Given the description of an element on the screen output the (x, y) to click on. 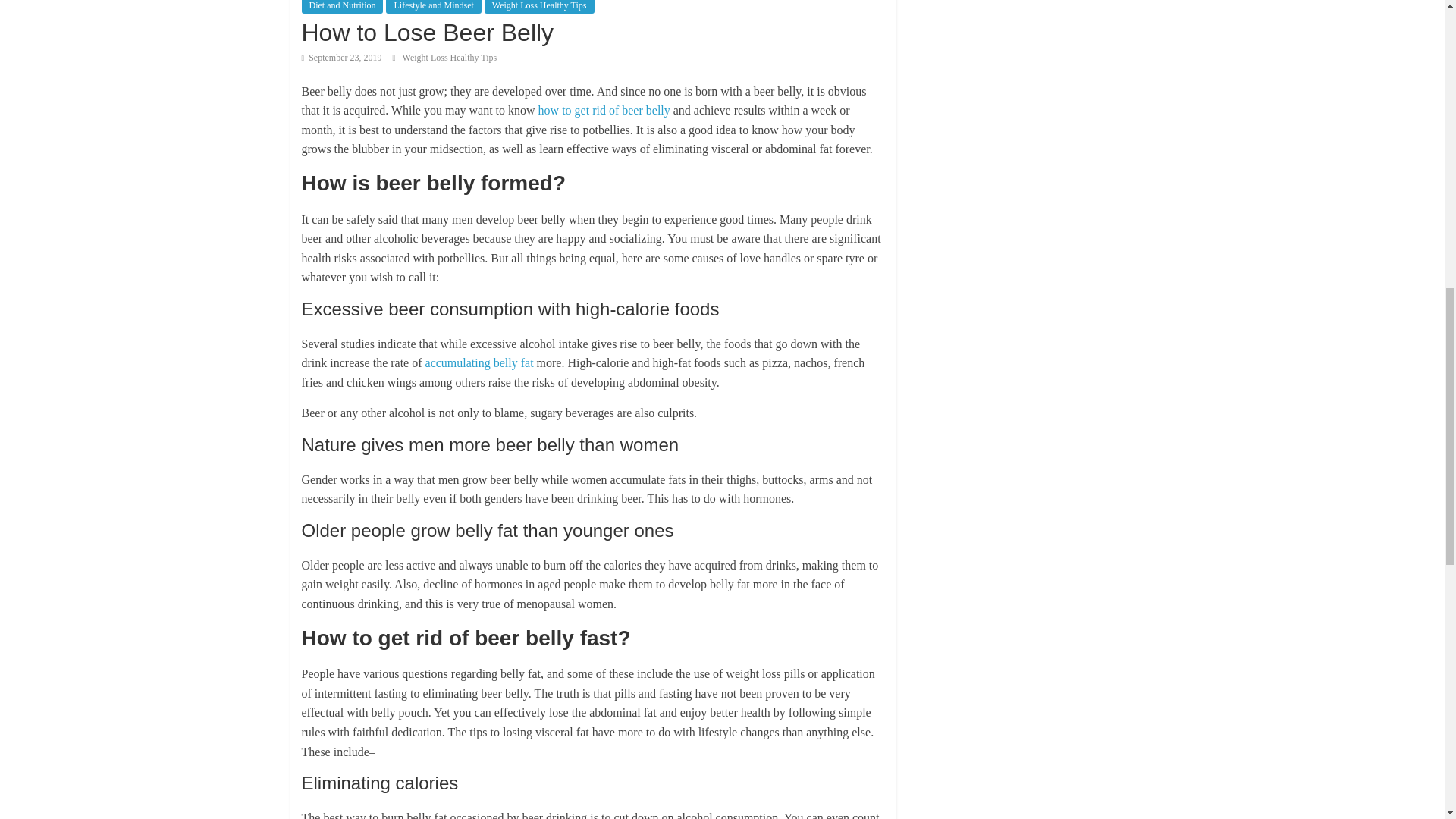
Weight Loss Healthy Tips (450, 57)
Weight Loss Healthy Tips (450, 57)
1:49 pm (341, 57)
September 23, 2019 (341, 57)
accumulating belly fat (479, 362)
Diet and Nutrition (342, 6)
Lifestyle and Mindset (432, 6)
Weight Loss Healthy Tips (539, 6)
how to get rid of beer belly (603, 110)
